Given the description of an element on the screen output the (x, y) to click on. 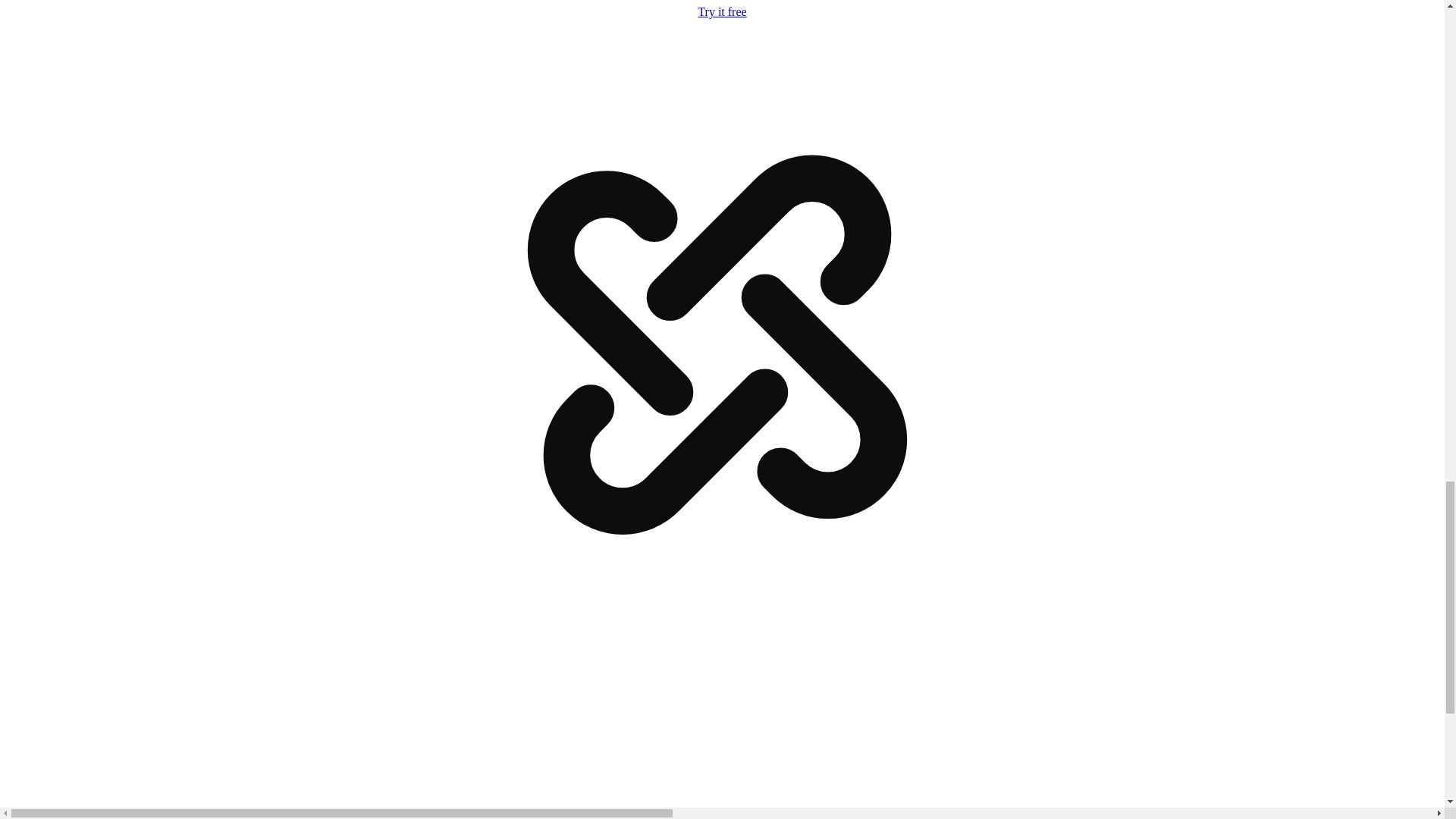
Try it free (721, 11)
